Given the description of an element on the screen output the (x, y) to click on. 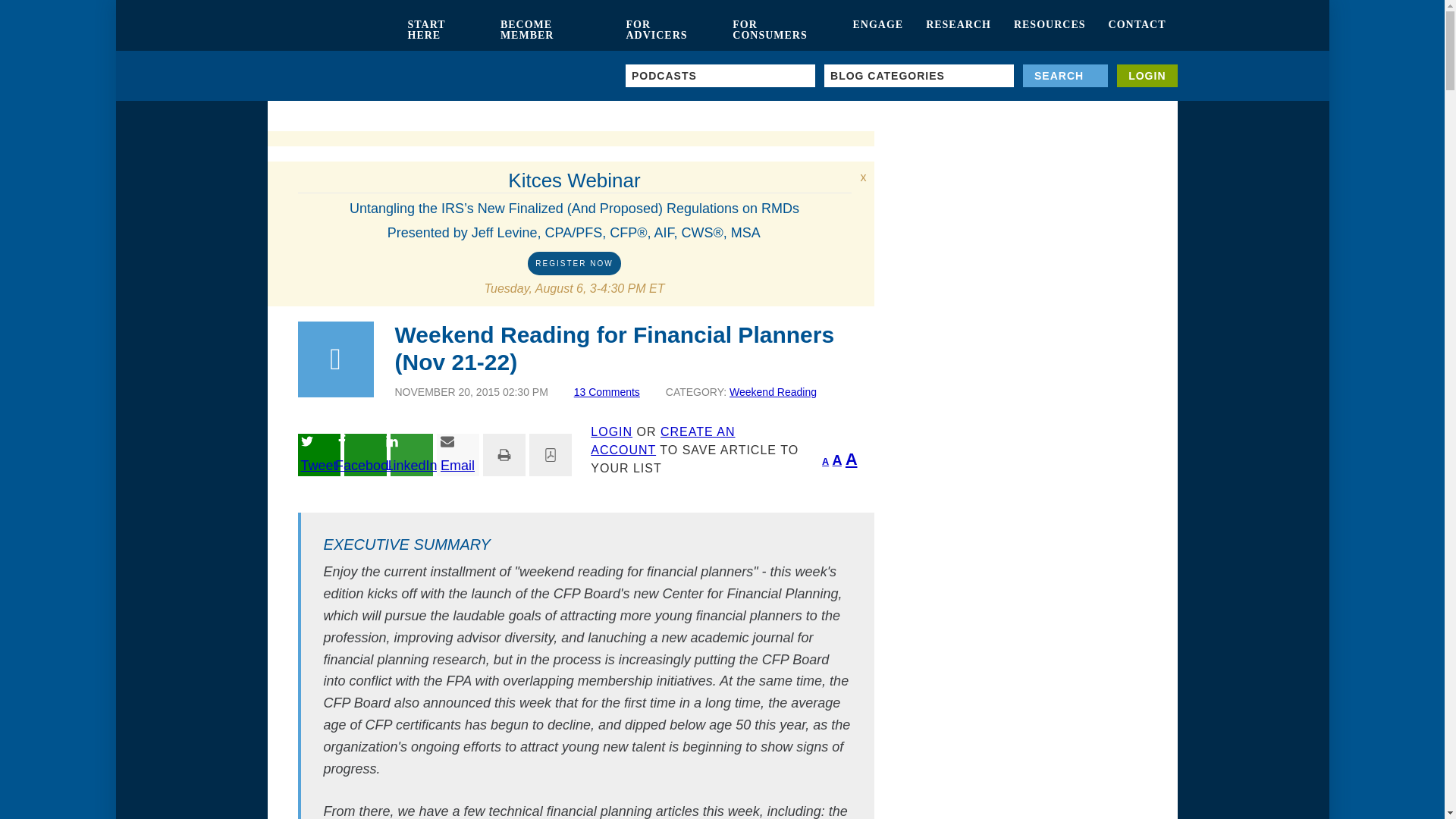
Share on LinkedIn (411, 454)
ENGAGE (877, 30)
Share on Twitter (318, 454)
BECOME MEMBER (551, 30)
FOR CONSUMERS (780, 30)
CONTACT (1137, 30)
FOR ADVICERS (667, 30)
Email (457, 454)
RESEARCH (958, 30)
START HERE (441, 30)
Share on Facebook (365, 454)
Share via Email (457, 454)
RESOURCES (1050, 30)
Kitces.com (331, 29)
